Given the description of an element on the screen output the (x, y) to click on. 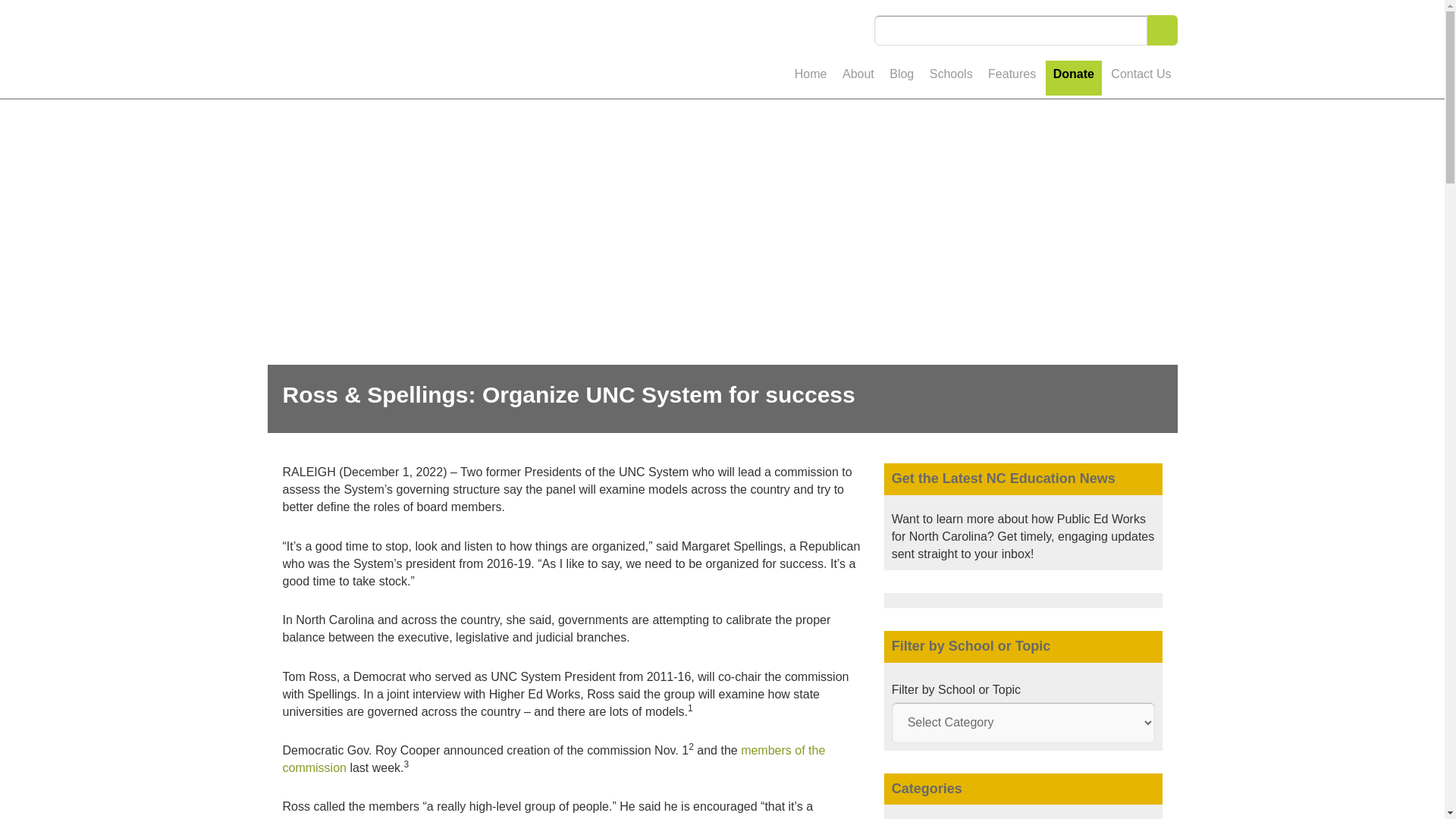
Contact Us (1140, 78)
Donate (1073, 77)
About (857, 78)
Blog (901, 78)
Home (810, 78)
Schools (950, 78)
Features (1011, 78)
members of the commission (553, 758)
